Given the description of an element on the screen output the (x, y) to click on. 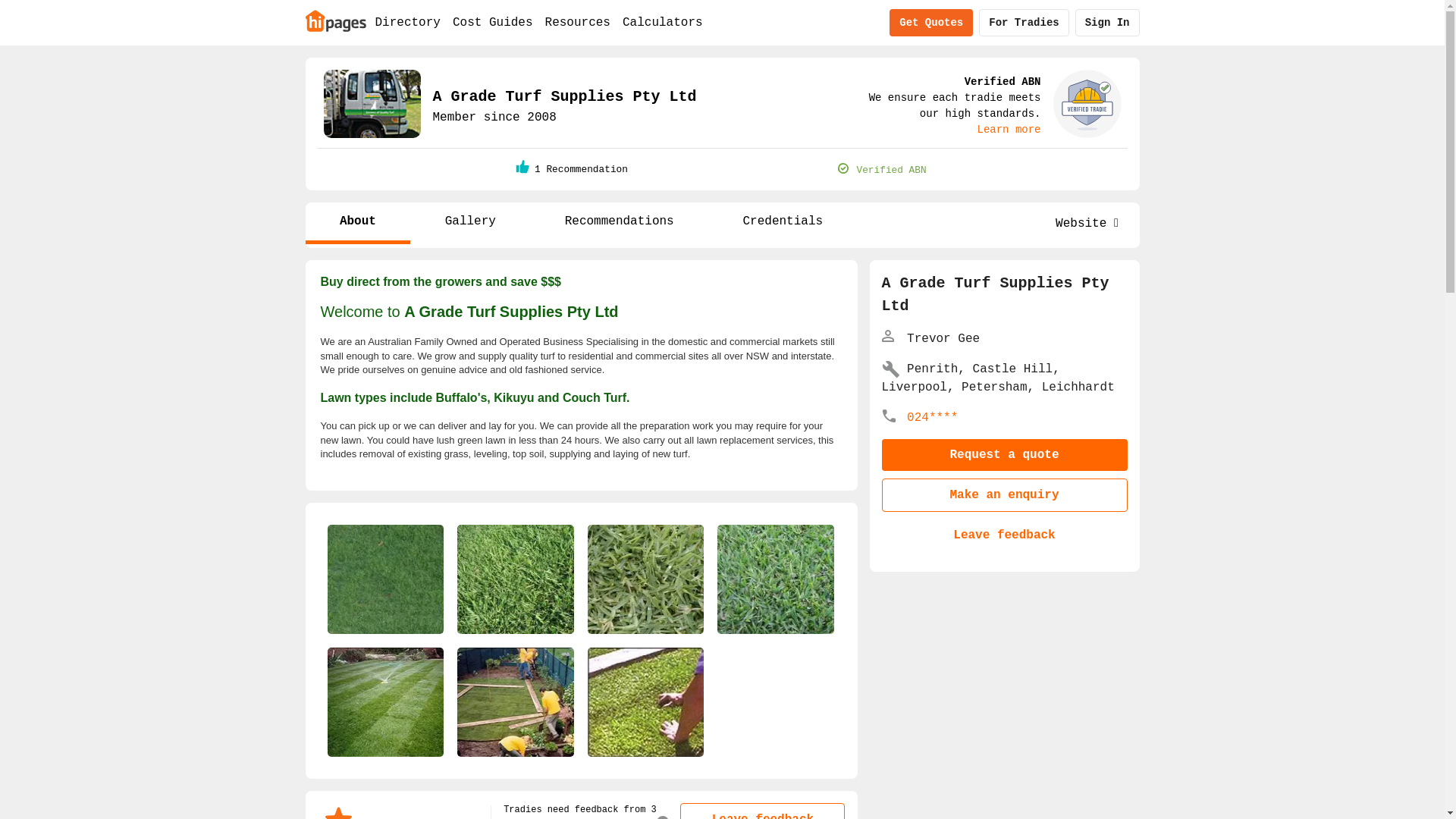
Learn more Element type: text (1008, 130)
Home Element type: hover (334, 20)
Credentials Element type: text (782, 223)
Sign In Element type: text (1107, 22)
For Tradies Element type: text (1023, 22)
Request a quote Element type: text (1003, 454)
For Tradies Element type: text (1023, 22)
Get Quotes Element type: text (930, 22)
Directory Element type: text (406, 22)
About Element type: text (357, 223)
Leave feedback Element type: text (1003, 535)
Make an enquiry Element type: text (1003, 494)
Resources Element type: text (577, 22)
Cost Guides Element type: text (492, 22)
Recommendations Element type: text (619, 223)
Calculators Element type: text (662, 22)
Gallery Element type: text (470, 223)
024**** Element type: text (931, 417)
